Given the description of an element on the screen output the (x, y) to click on. 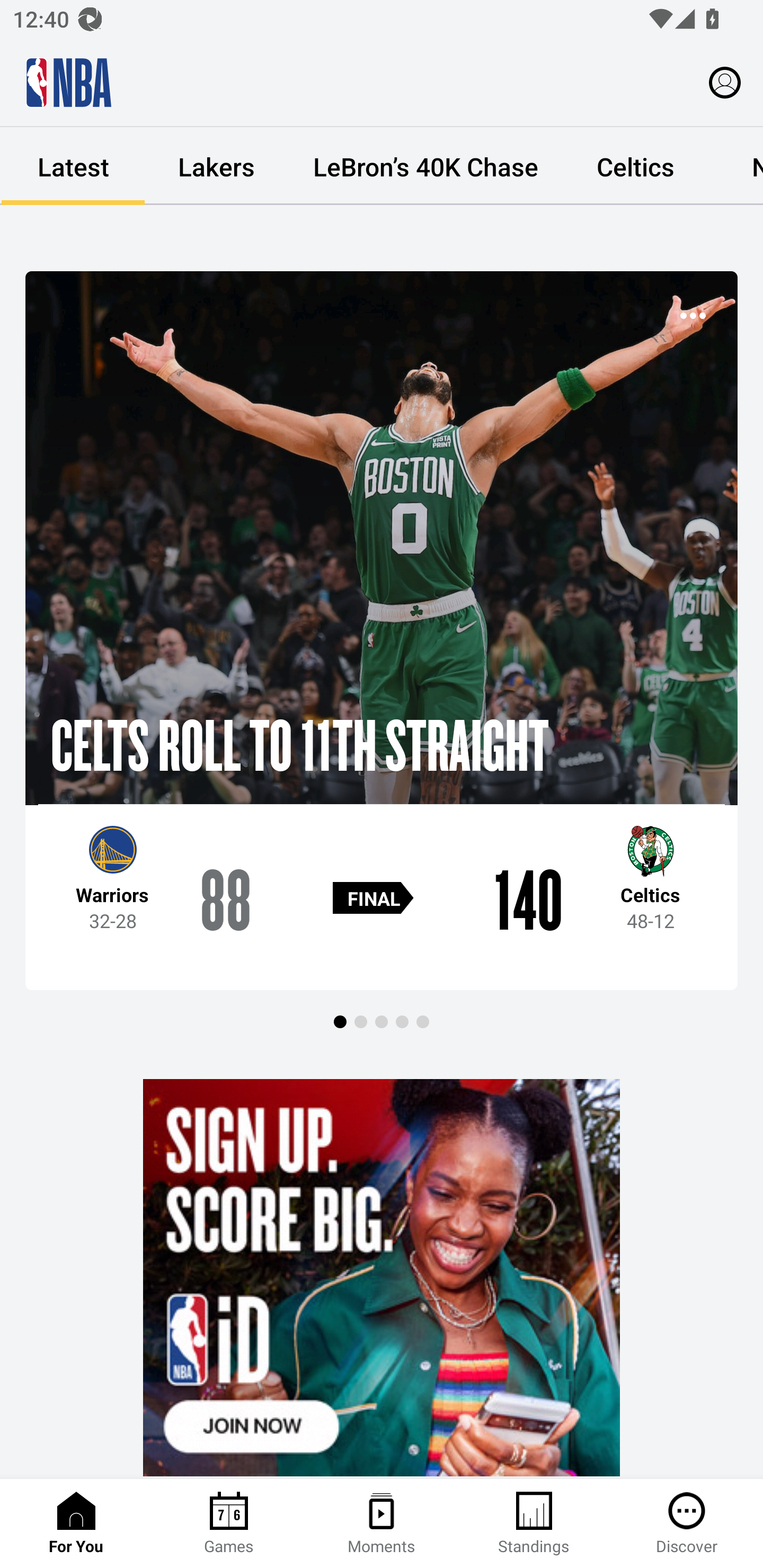
Profile (724, 81)
Lakers (215, 166)
LeBron’s 40K Chase (425, 166)
Celtics (634, 166)
Games (228, 1523)
Moments (381, 1523)
Standings (533, 1523)
Discover (686, 1523)
